Given the description of an element on the screen output the (x, y) to click on. 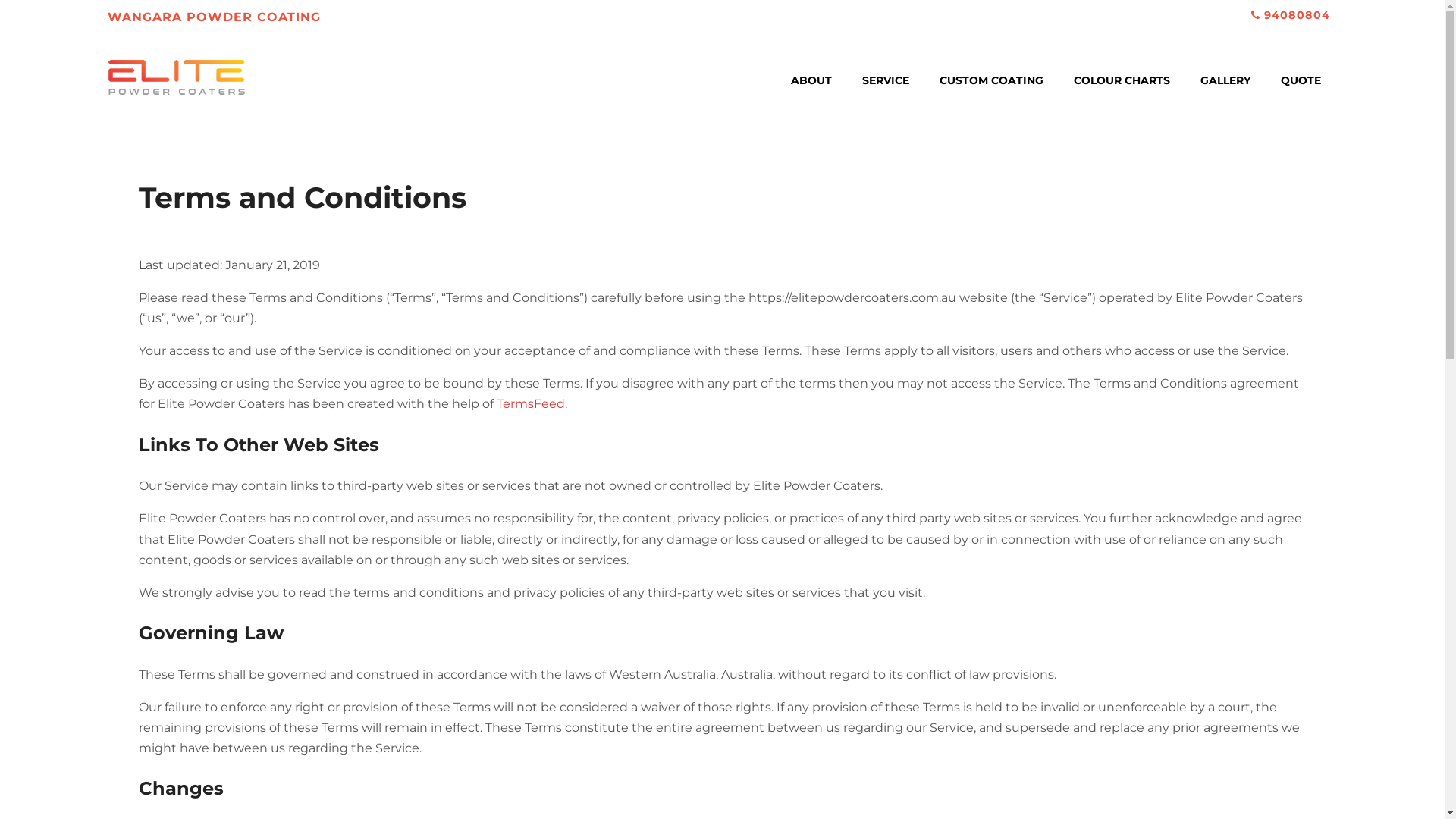
CUSTOM COATING Element type: text (991, 79)
WANGARA POWDER COATING Element type: text (213, 13)
GALLERY Element type: text (1225, 79)
ELITE POWDER COATERS Element type: hover (176, 113)
ABOUT Element type: text (811, 79)
QUOTE Element type: text (1300, 79)
SERVICE Element type: text (885, 79)
COLOUR CHARTS Element type: text (1121, 79)
TermsFeed Element type: text (530, 403)
94080804 Element type: text (1297, 14)
